Given the description of an element on the screen output the (x, y) to click on. 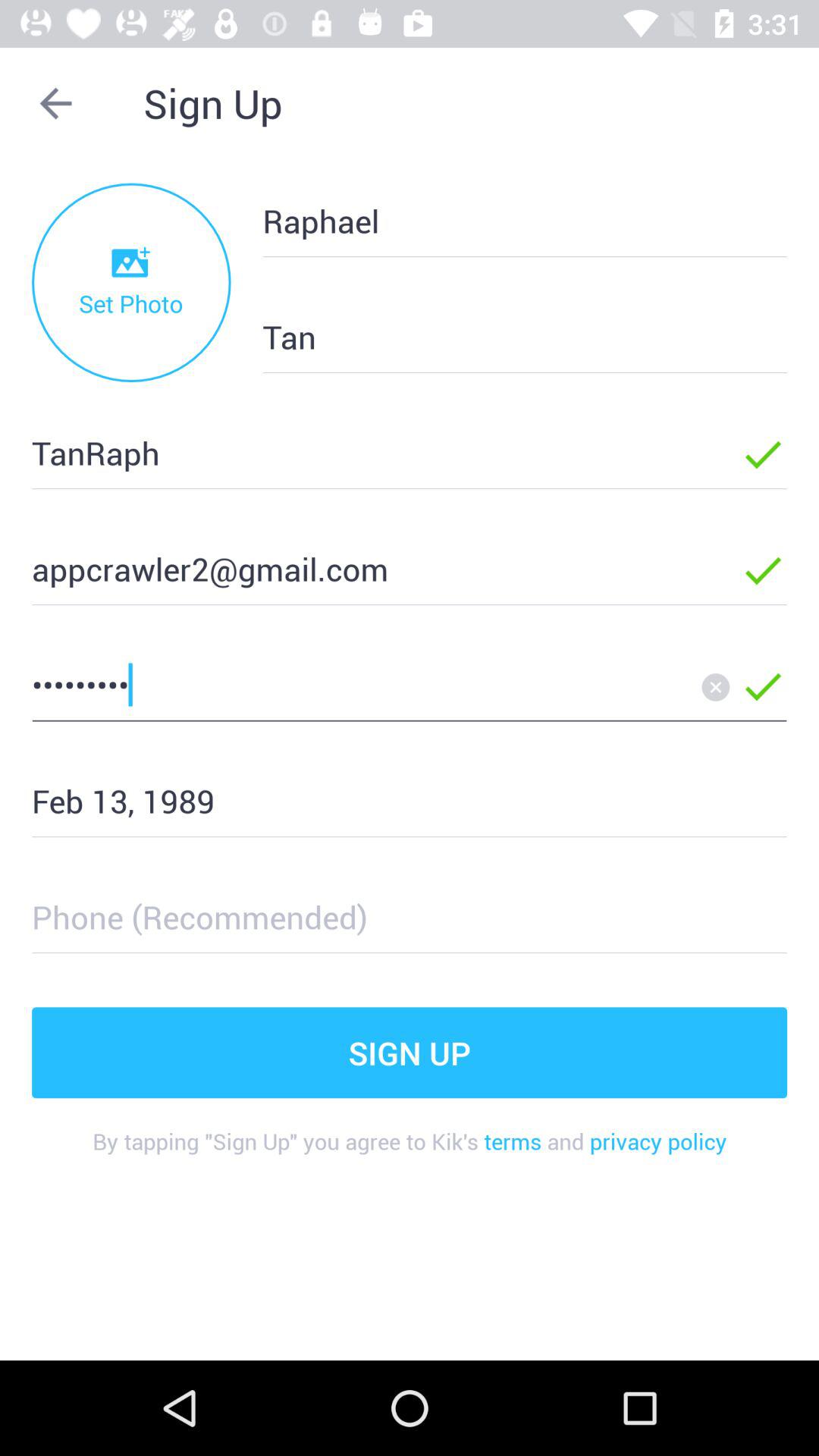
open the raphael icon (500, 220)
